Given the description of an element on the screen output the (x, y) to click on. 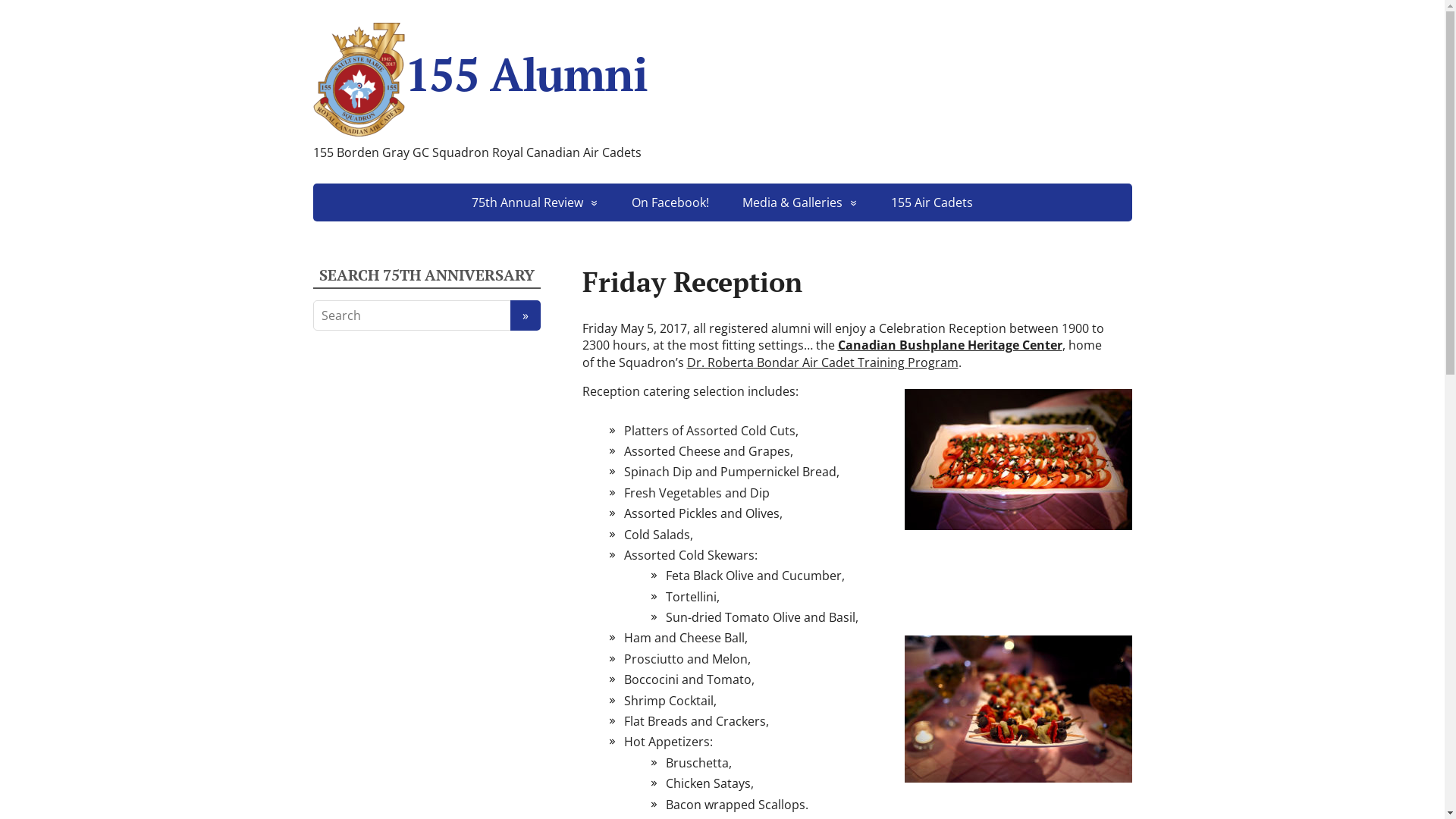
Media & Galleries Element type: text (799, 202)
155 Air Cadets Element type: text (931, 202)
Canadian Bushplane Heritage Center Element type: text (949, 344)
On Facebook! Element type: text (670, 202)
Dr. Roberta Bondar Air Cadet Training Program Element type: text (822, 362)
155 Alumni Element type: text (721, 79)
75th Annual Review Element type: text (534, 202)
